Given the description of an element on the screen output the (x, y) to click on. 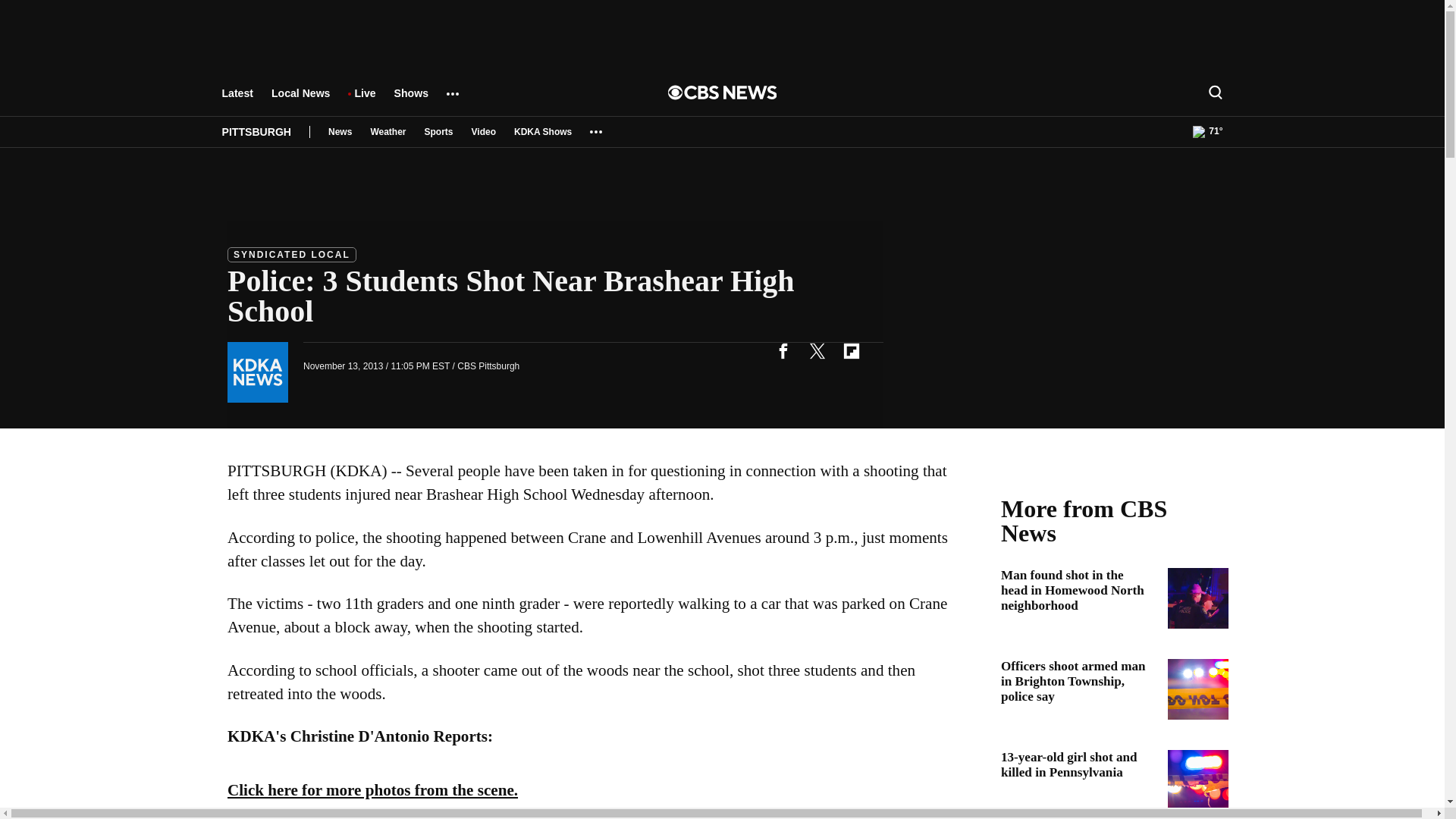
facebook (782, 350)
flipboard (850, 350)
Latest (236, 100)
twitter (816, 350)
Local News (300, 100)
